Given the description of an element on the screen output the (x, y) to click on. 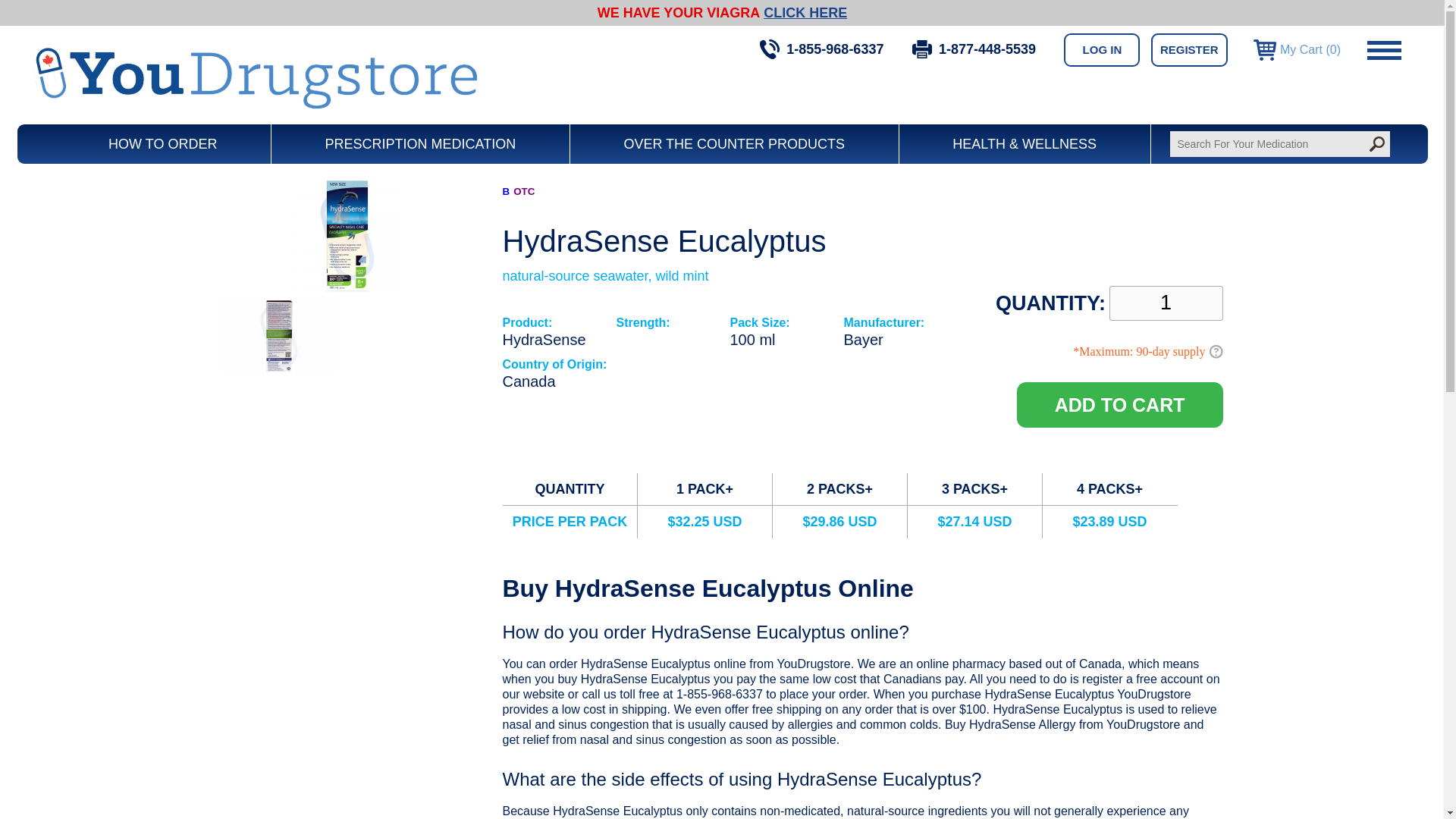
PRESCRIPTION MEDICATION (419, 143)
Maximum 90-day supply (1215, 350)
1-855-968-6337 (822, 48)
HydraSense Eucalyptus (277, 370)
OVER THE COUNTER PRODUCTS (734, 143)
LOG IN (1102, 49)
Search (1375, 144)
HOW TO ORDER (162, 143)
ADD TO CART (1119, 404)
Non-Prescription (523, 191)
